Given the description of an element on the screen output the (x, y) to click on. 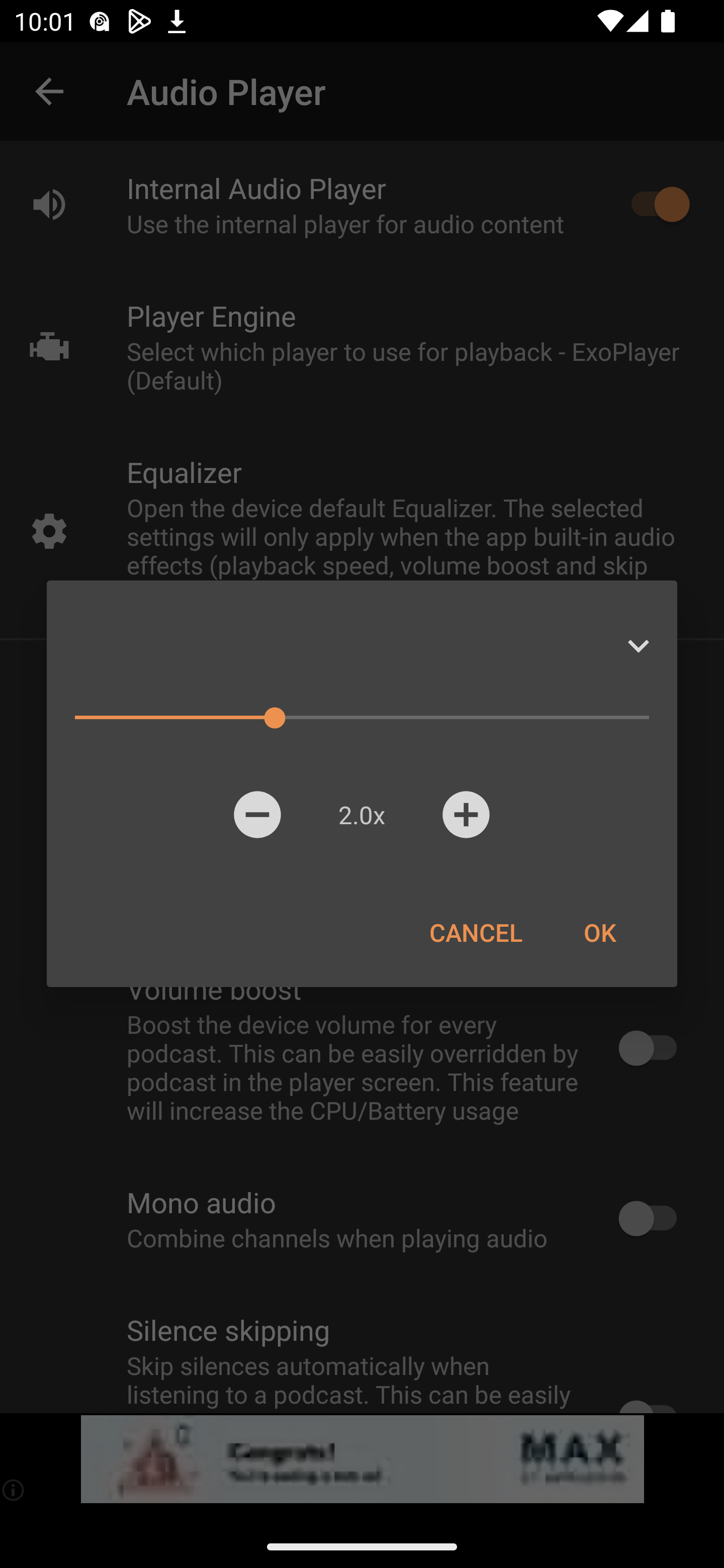
Expand (637, 645)
2.0x (361, 814)
CANCEL (475, 932)
OK (599, 932)
